Given the description of an element on the screen output the (x, y) to click on. 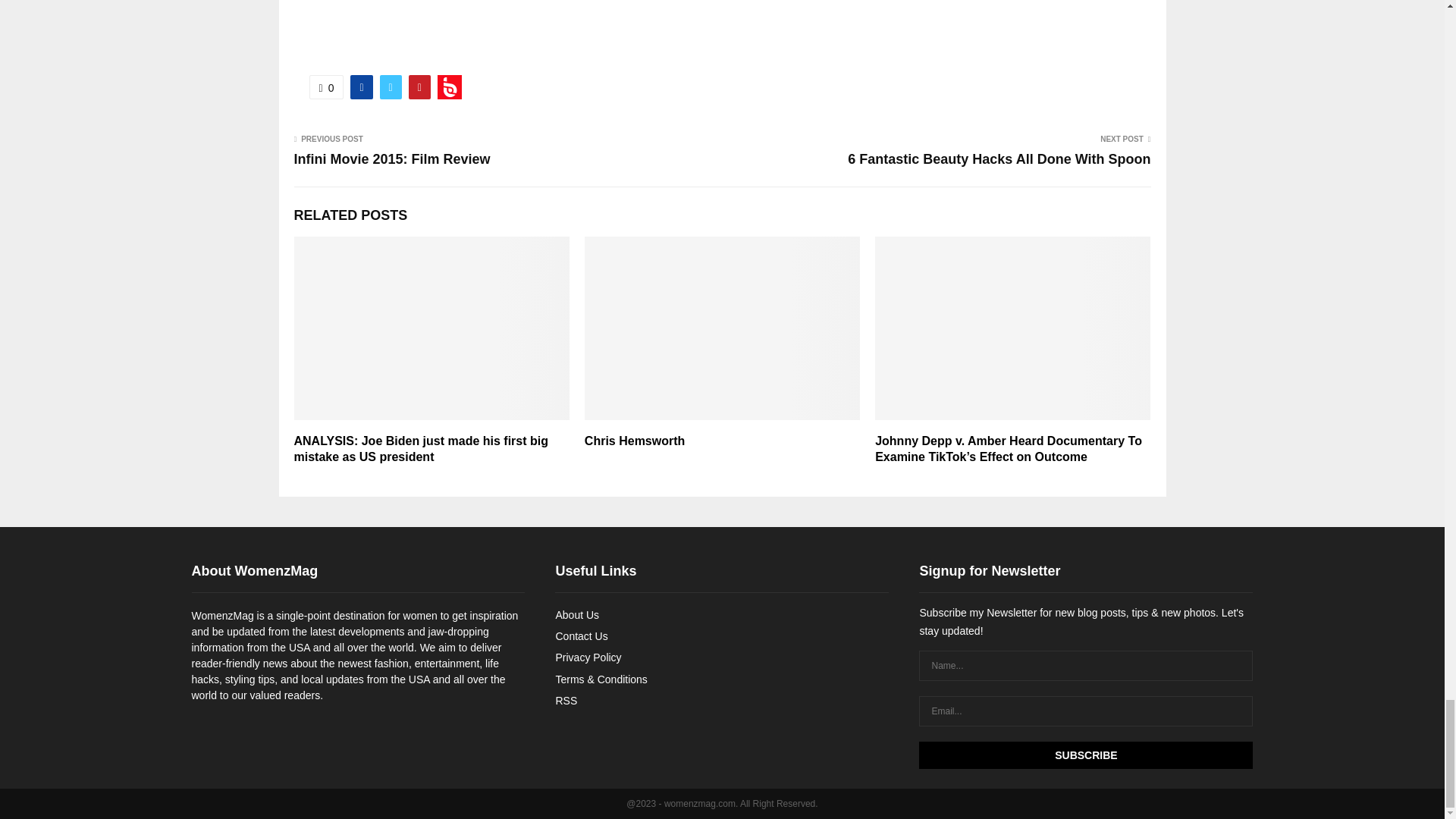
Like (325, 87)
Subscribe (1085, 755)
Infini Movie 2015: Film Review (392, 159)
0 (325, 87)
